Given the description of an element on the screen output the (x, y) to click on. 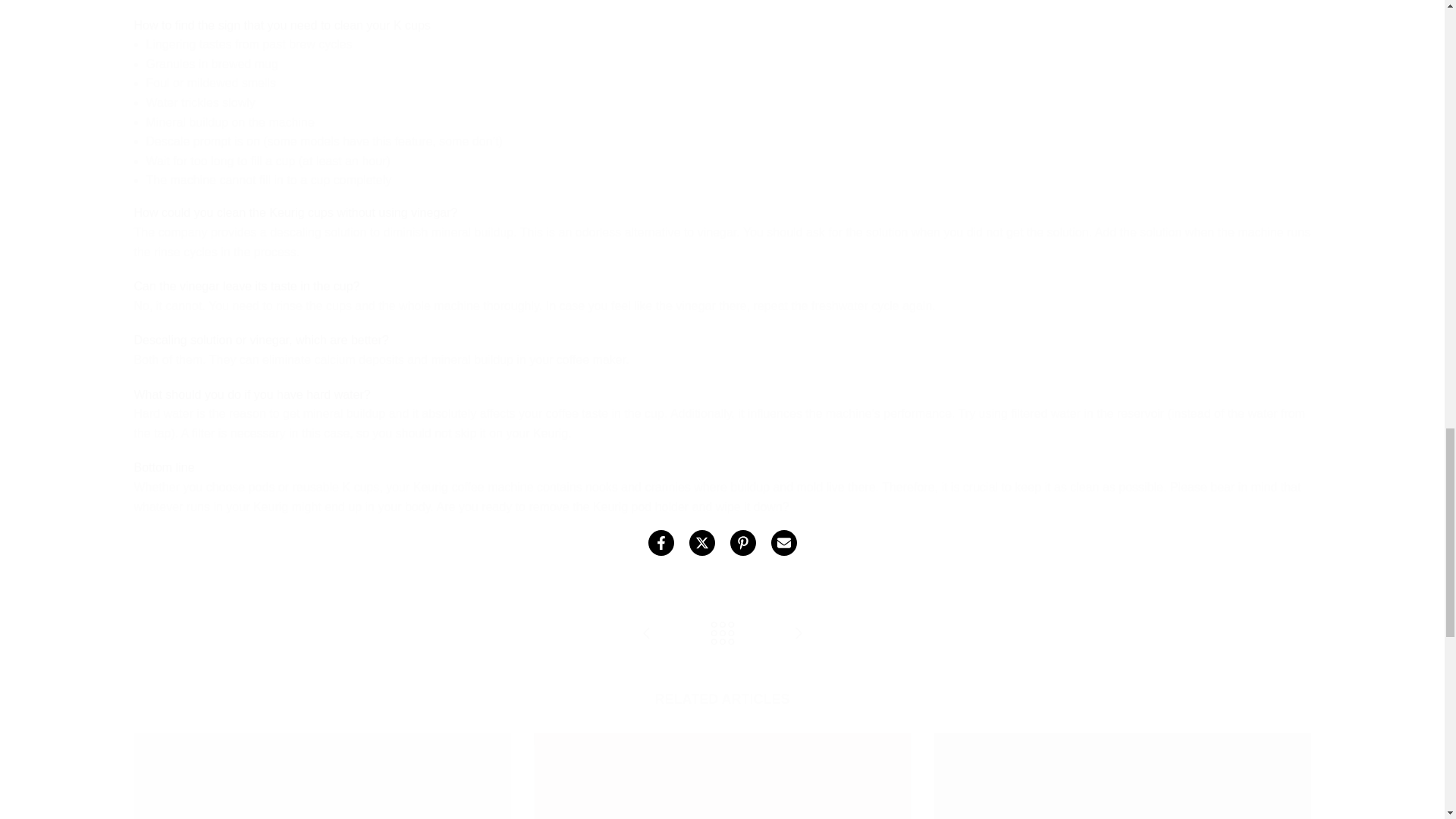
Should You Add Salt in Coffee Grounds? (646, 634)
Share on Twitter (701, 542)
Share on Email (783, 542)
Back to News (722, 634)
Share on Facebook (659, 542)
How Much Filter Coffee to Use in Per Cup? (797, 634)
Share on Pinterest (742, 542)
